Given the description of an element on the screen output the (x, y) to click on. 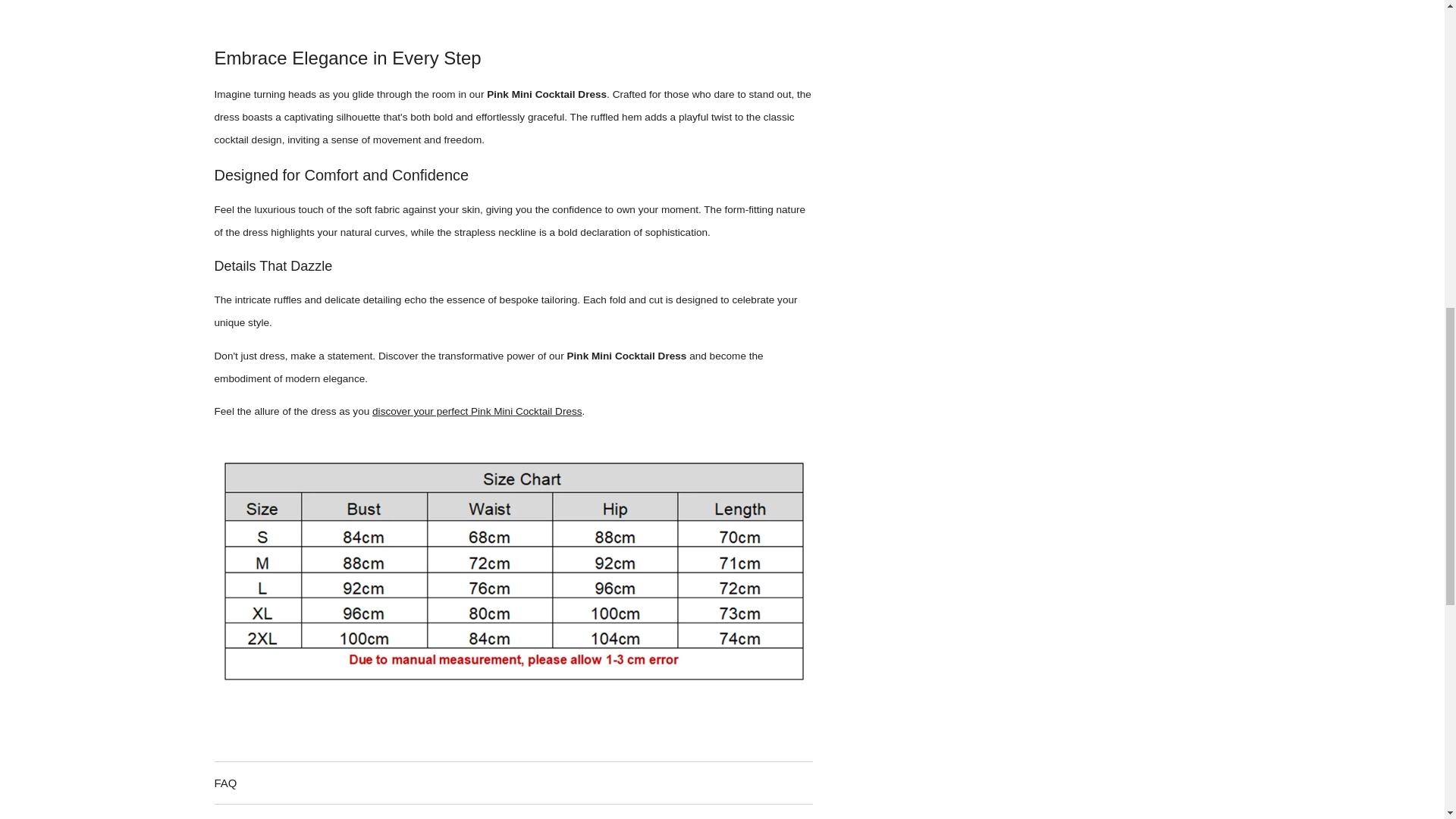
discover your perfect Pink Mini Cocktail Dress (477, 410)
Discover your perfect Pink Mini Cocktail Dress (477, 410)
